Given the description of an element on the screen output the (x, y) to click on. 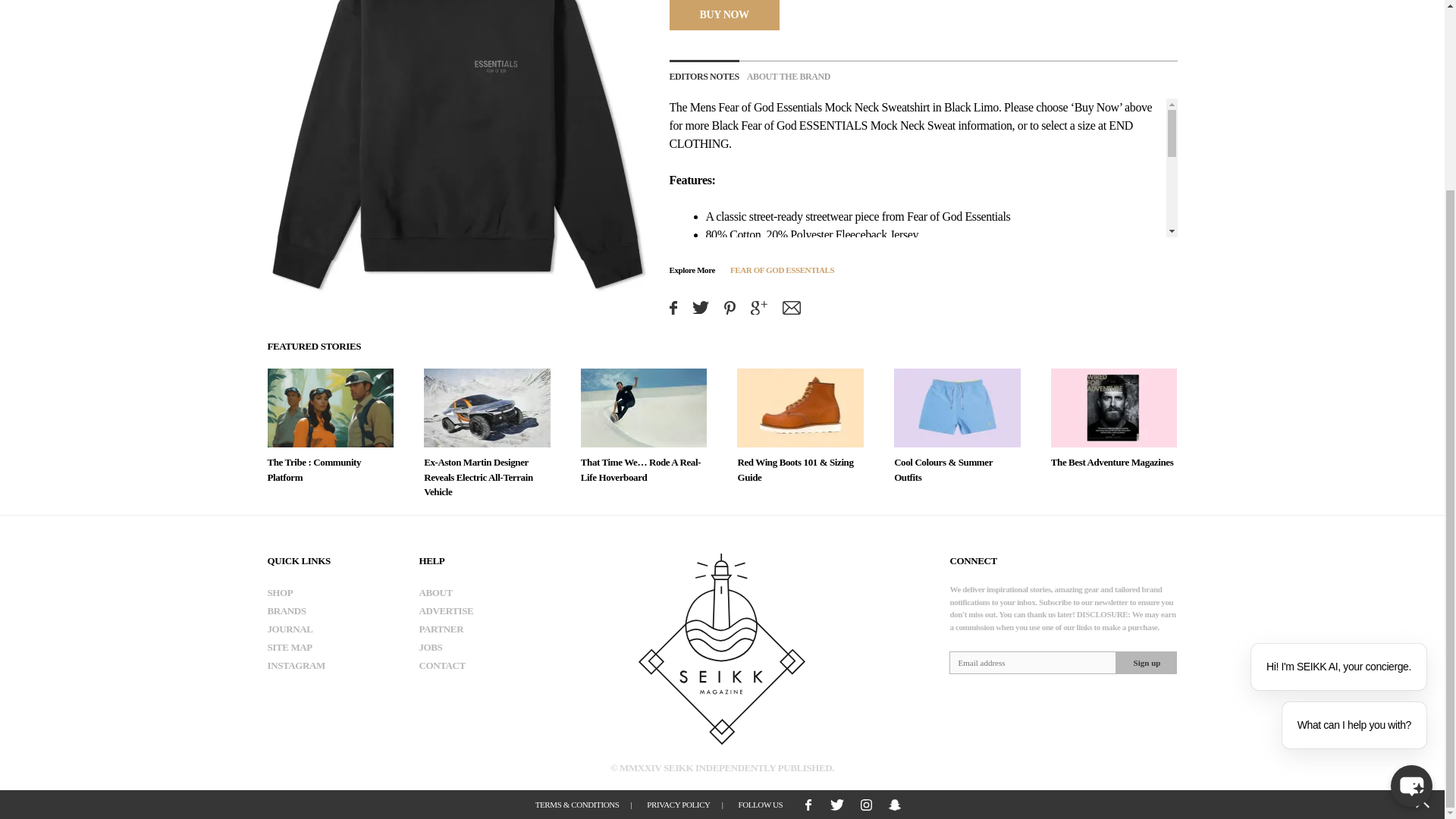
FEAR OF GOD ESSENTIALS (782, 268)
Fear of God Essentials (769, 106)
BUY NOW (723, 14)
